Given the description of an element on the screen output the (x, y) to click on. 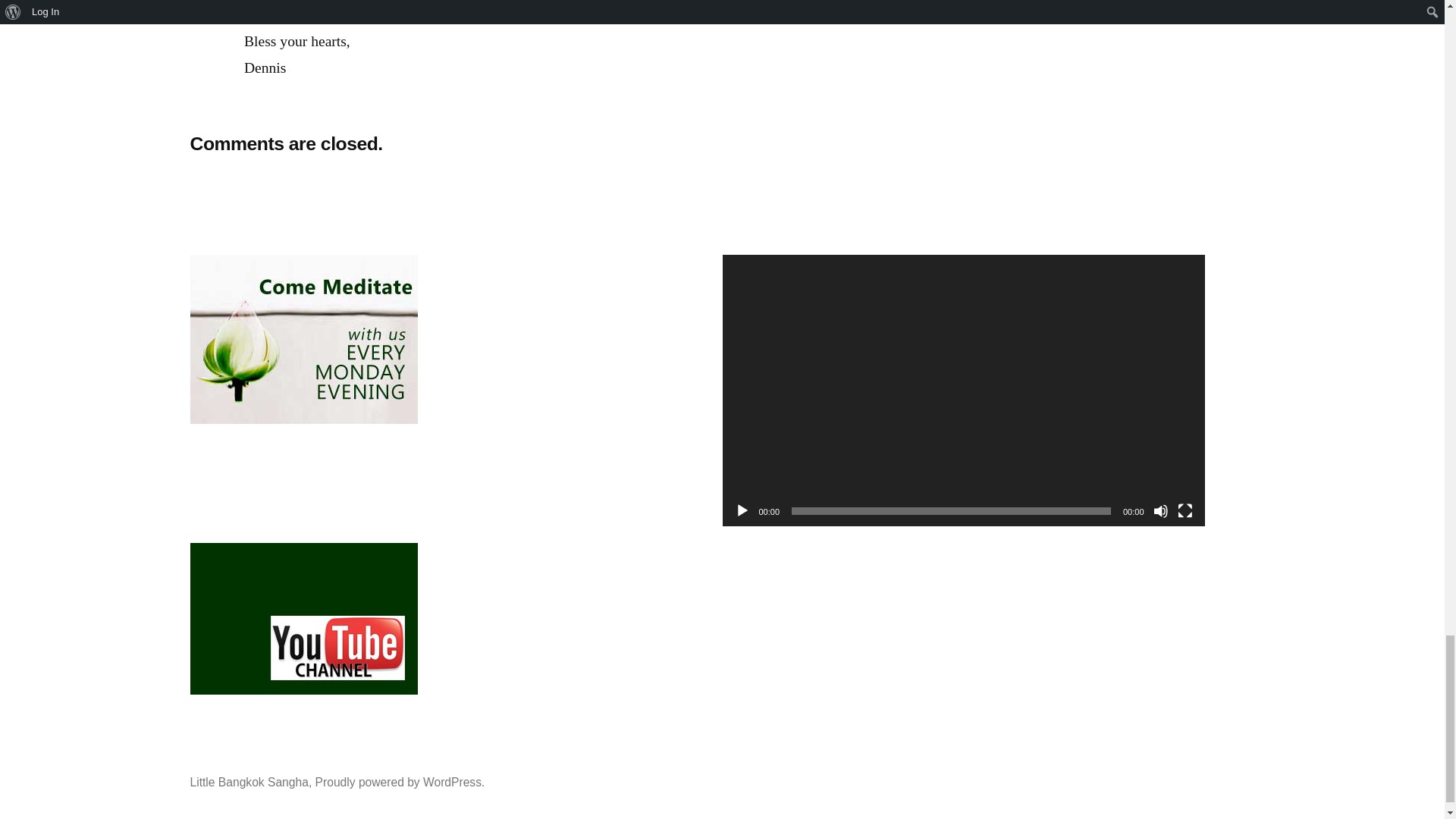
Mute (1160, 510)
Proudly powered by WordPress. (399, 781)
Fullscreen (1184, 510)
Little Bangkok Sangha (248, 781)
Play (741, 510)
